Given the description of an element on the screen output the (x, y) to click on. 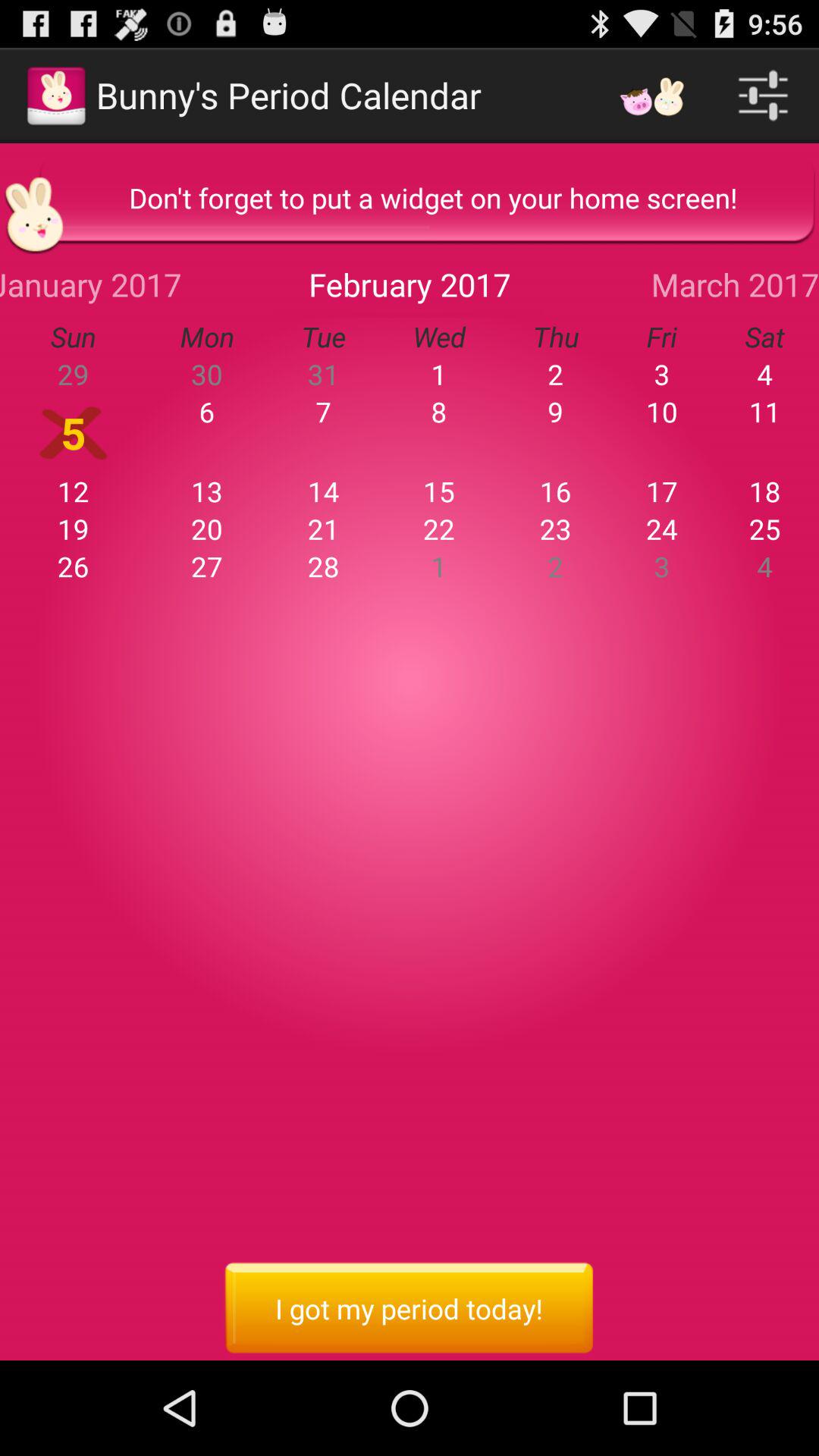
jump to the fri item (661, 336)
